Given the description of an element on the screen output the (x, y) to click on. 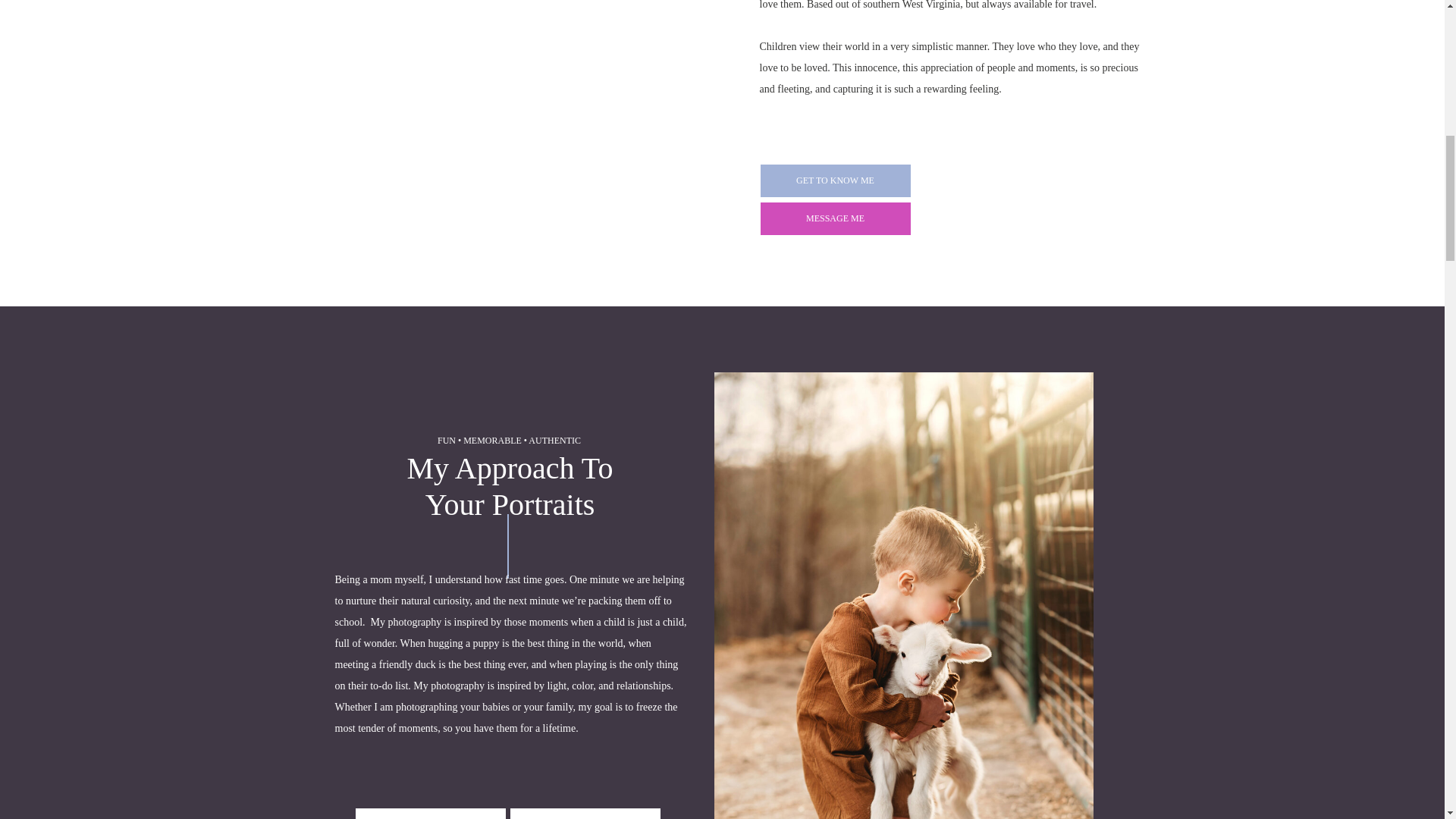
GET TO KNOW ME (835, 180)
MATERNITY (430, 816)
MESSAGE ME (835, 217)
MEET ME (940, 306)
